Given the description of an element on the screen output the (x, y) to click on. 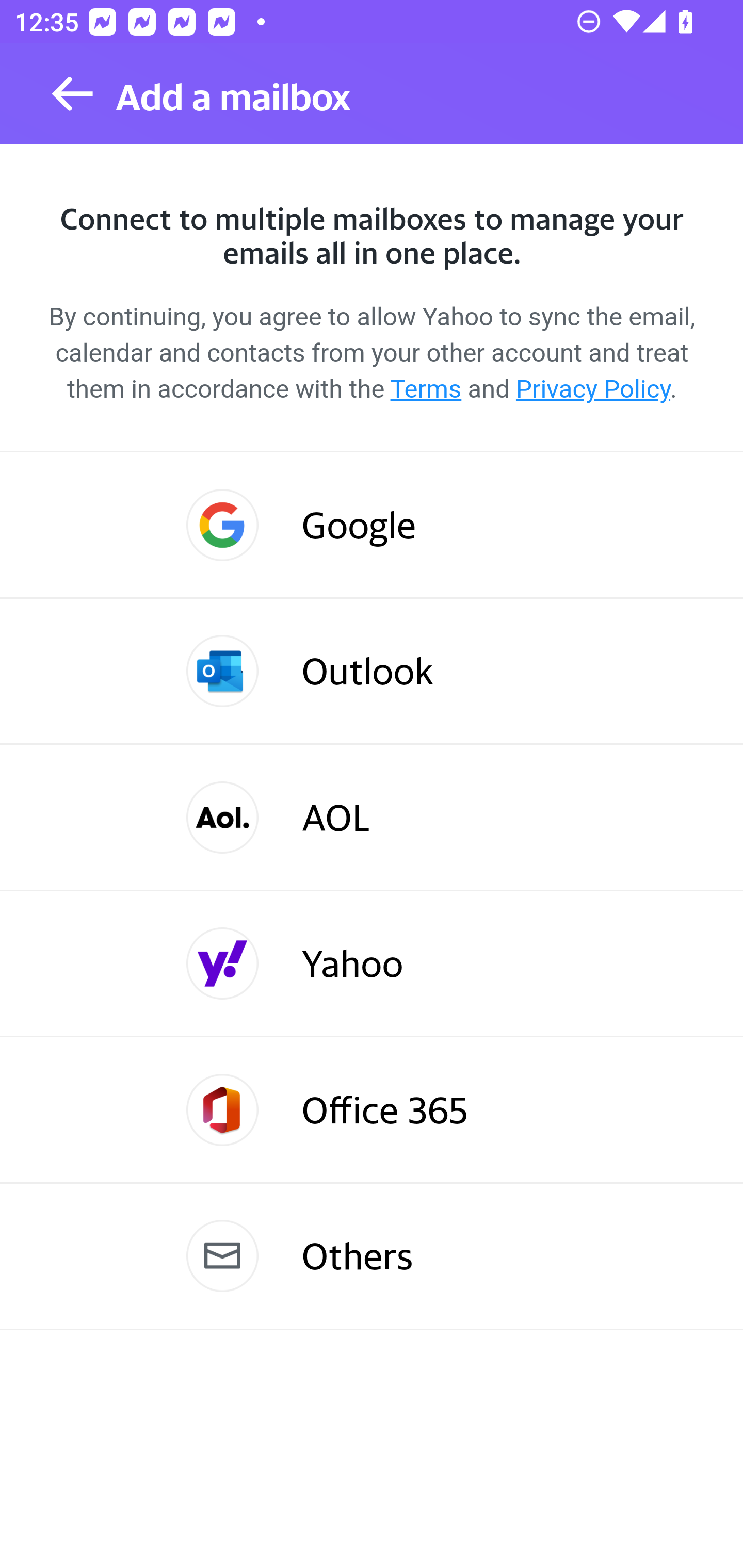
Back (71, 93)
Terms (426, 388)
Privacy Policy (592, 388)
